Given the description of an element on the screen output the (x, y) to click on. 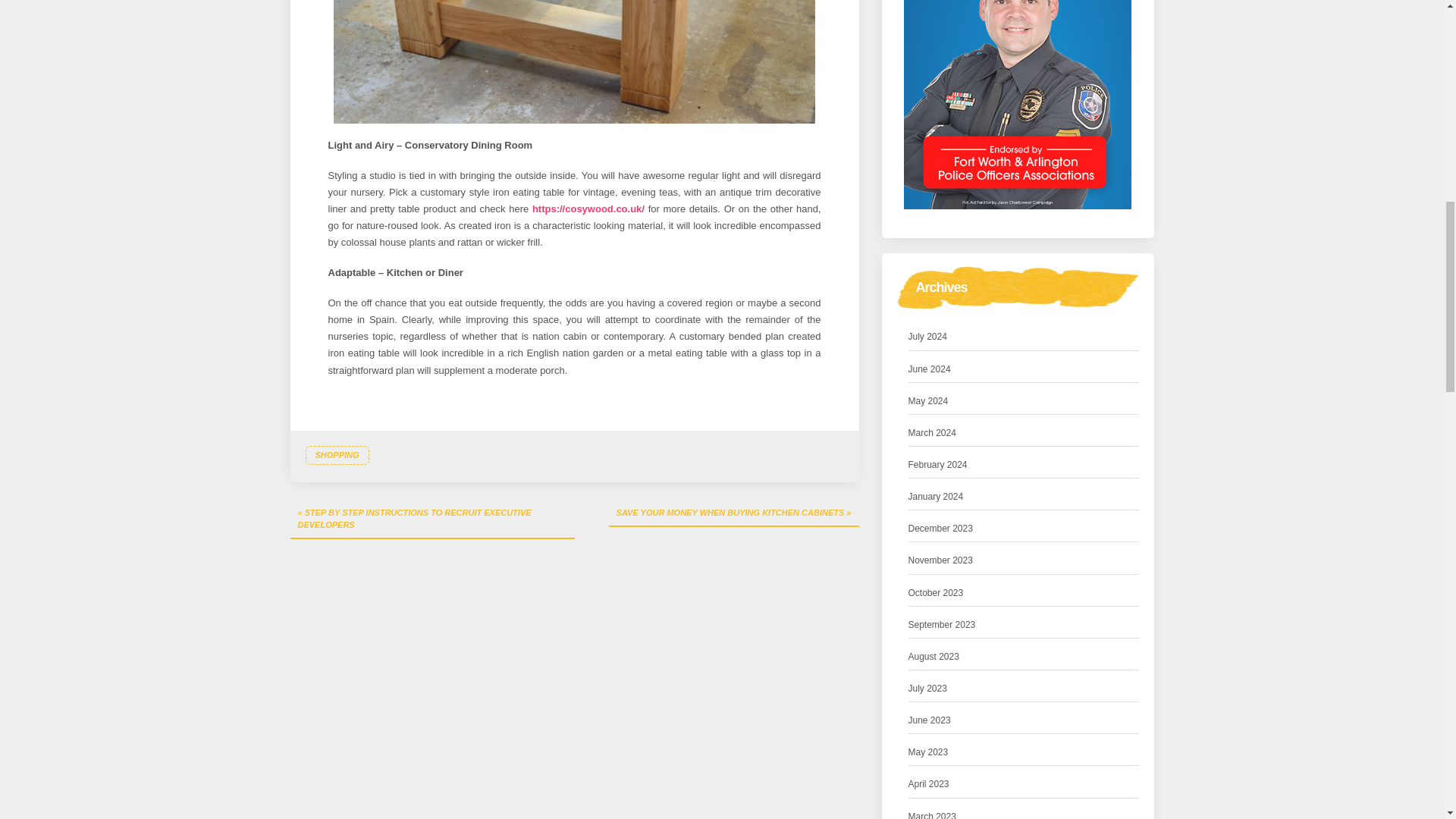
January 2024 (935, 496)
May 2024 (928, 401)
April 2023 (928, 784)
June 2023 (929, 720)
July 2024 (927, 336)
March 2023 (932, 814)
STEP BY STEP INSTRUCTIONS TO RECRUIT EXECUTIVE DEVELOPERS (431, 519)
August 2023 (933, 657)
May 2023 (928, 752)
November 2023 (940, 560)
SAVE YOUR MONEY WHEN BUYING KITCHEN CABINETS (733, 514)
December 2023 (940, 528)
July 2023 (927, 688)
September 2023 (941, 625)
March 2024 (932, 433)
